Given the description of an element on the screen output the (x, y) to click on. 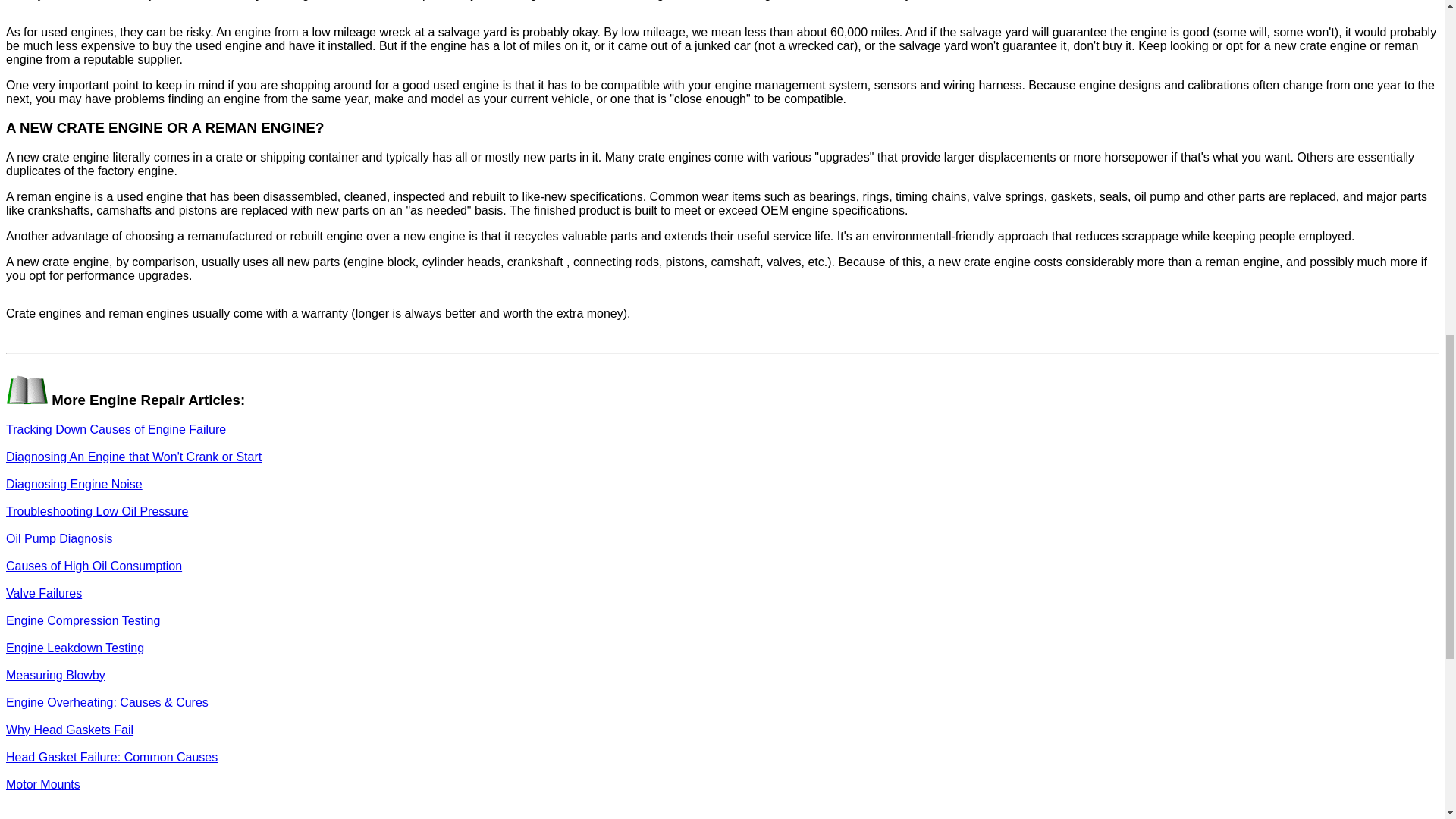
Engine Leakdown Testing (74, 647)
Why Head Gaskets Fail (69, 729)
Motor Mounts (42, 784)
Head Gasket Failure: Common Causes (110, 757)
Tracking Down Causes of Engine Failure (115, 429)
Diagnosing Engine Noise (73, 483)
Valve Failures (43, 593)
Diagnosing An Engine that Won't Crank or Start (133, 456)
Troubleshooting Low Oil Pressure (96, 511)
Oil Pump Diagnosis (59, 538)
